Given the description of an element on the screen output the (x, y) to click on. 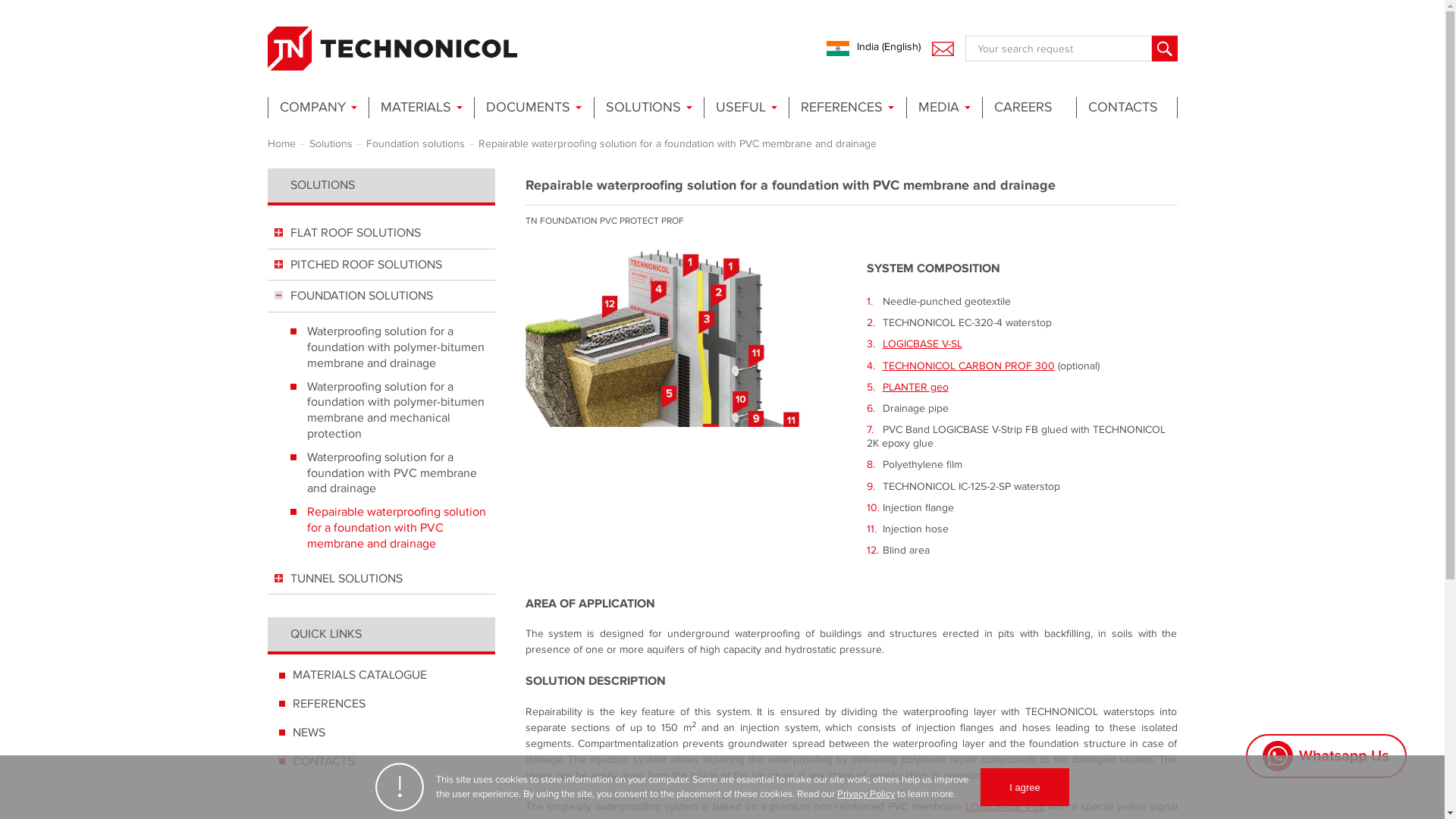
Foundation solutions (414, 143)
Solutions (330, 143)
COMPANY (316, 107)
Home (280, 143)
MATERIALS (419, 107)
I agree (1023, 786)
